Given the description of an element on the screen output the (x, y) to click on. 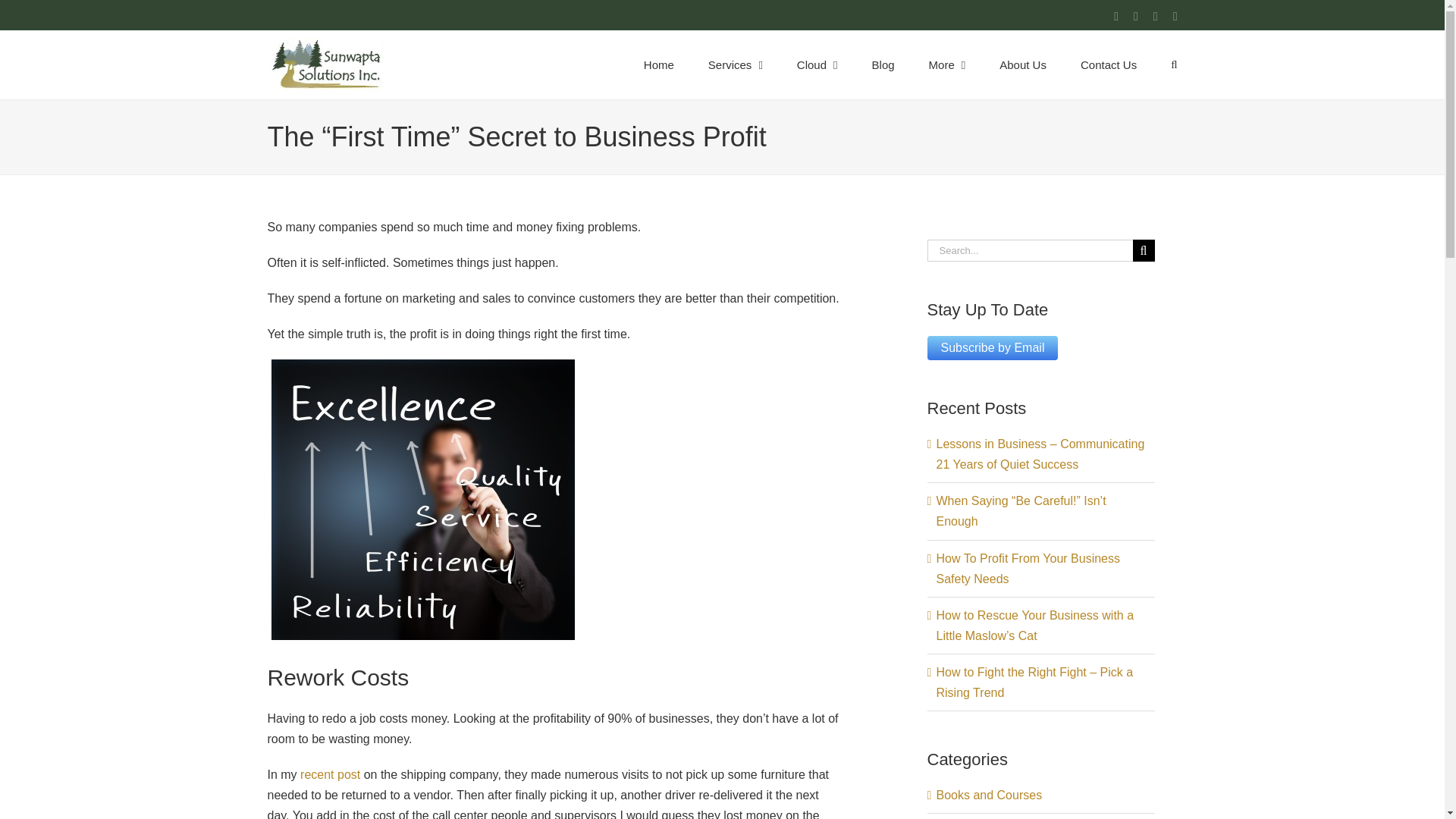
Excellence quality service reliability efficiency (422, 499)
recent post (329, 774)
Subscribe by Email (992, 347)
